Given the description of an element on the screen output the (x, y) to click on. 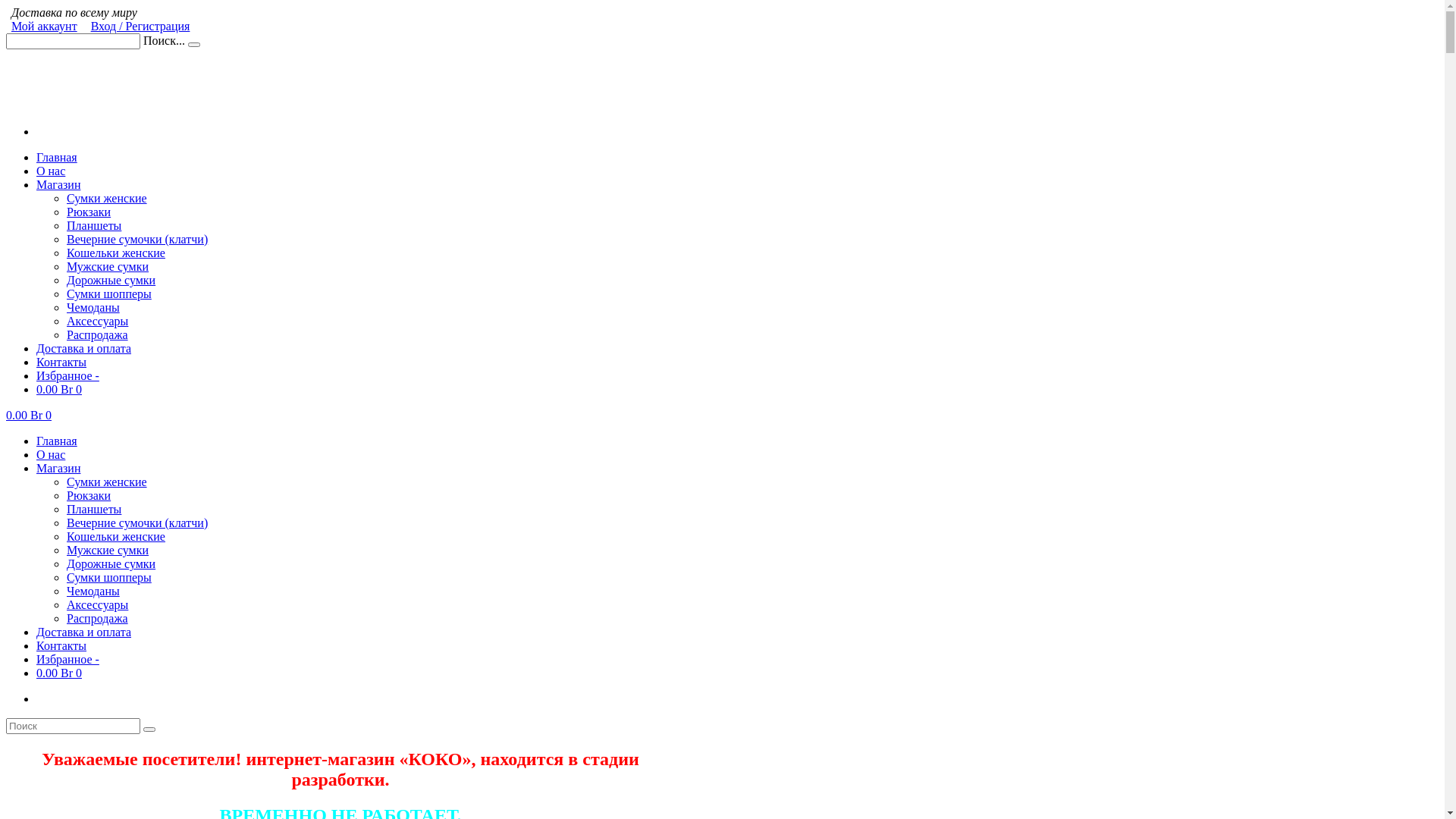
0.00 Br 0 Element type: text (58, 672)
0.00 Br 0 Element type: text (28, 414)
0.00 Br 0 Element type: text (58, 388)
